Given the description of an element on the screen output the (x, y) to click on. 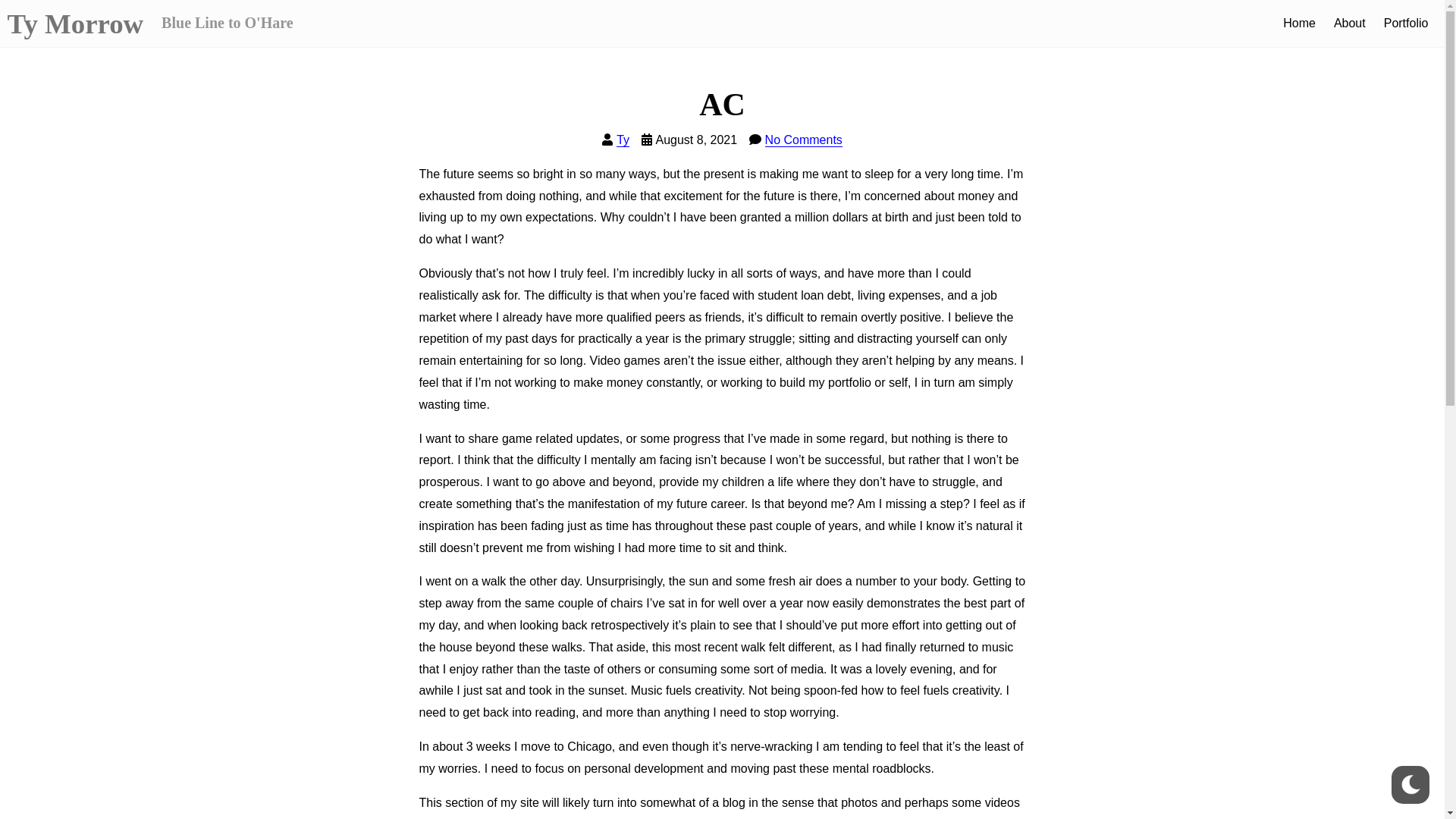
Ty Element type: text (622, 140)
No Comments Element type: text (803, 140)
Home Element type: text (1299, 23)
About Element type: text (1349, 23)
Ty Morrow Element type: text (75, 23)
Portfolio Element type: text (1405, 23)
